Given the description of an element on the screen output the (x, y) to click on. 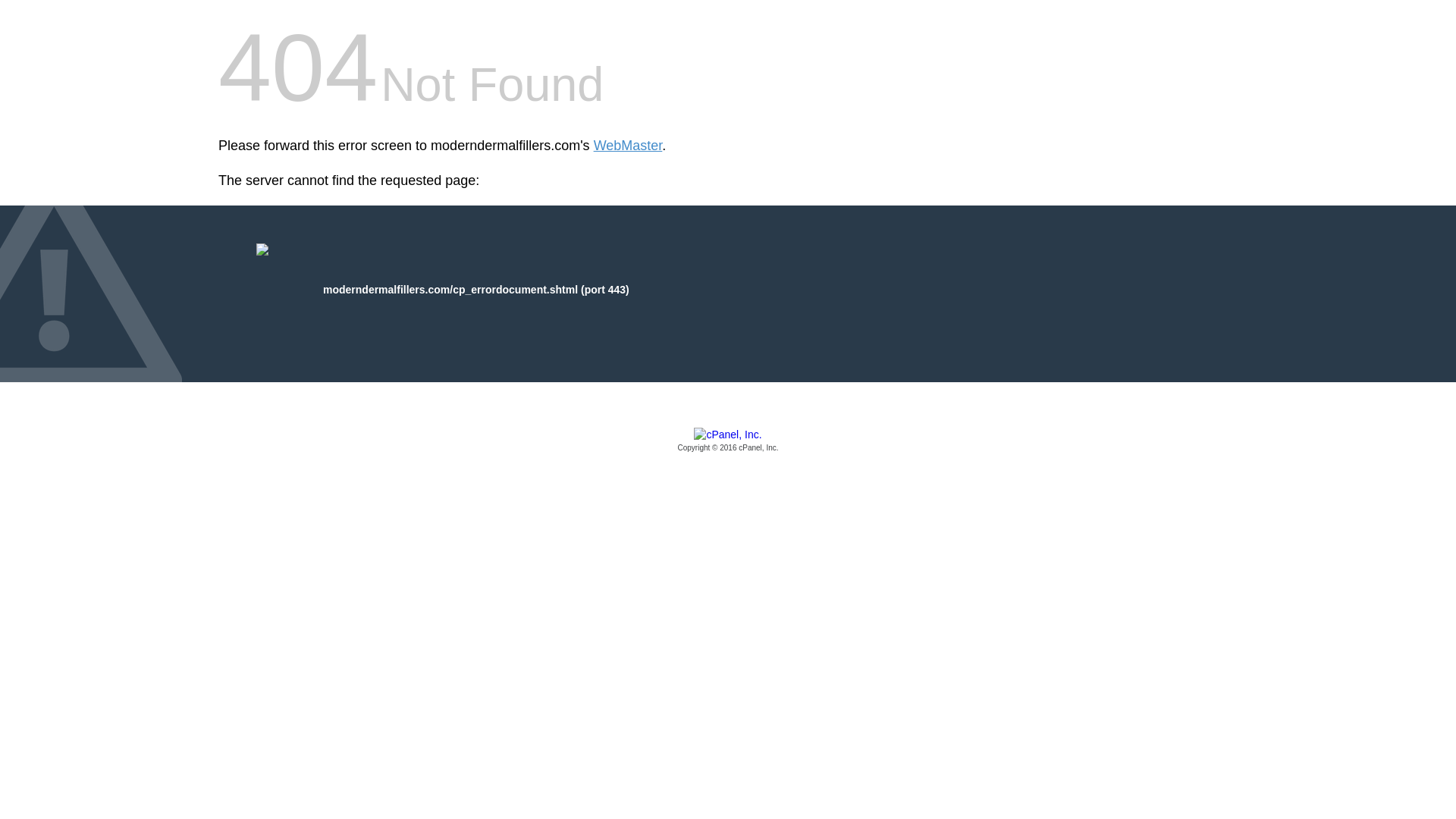
cPanel, Inc. (727, 440)
WebMaster (628, 145)
